Given the description of an element on the screen output the (x, y) to click on. 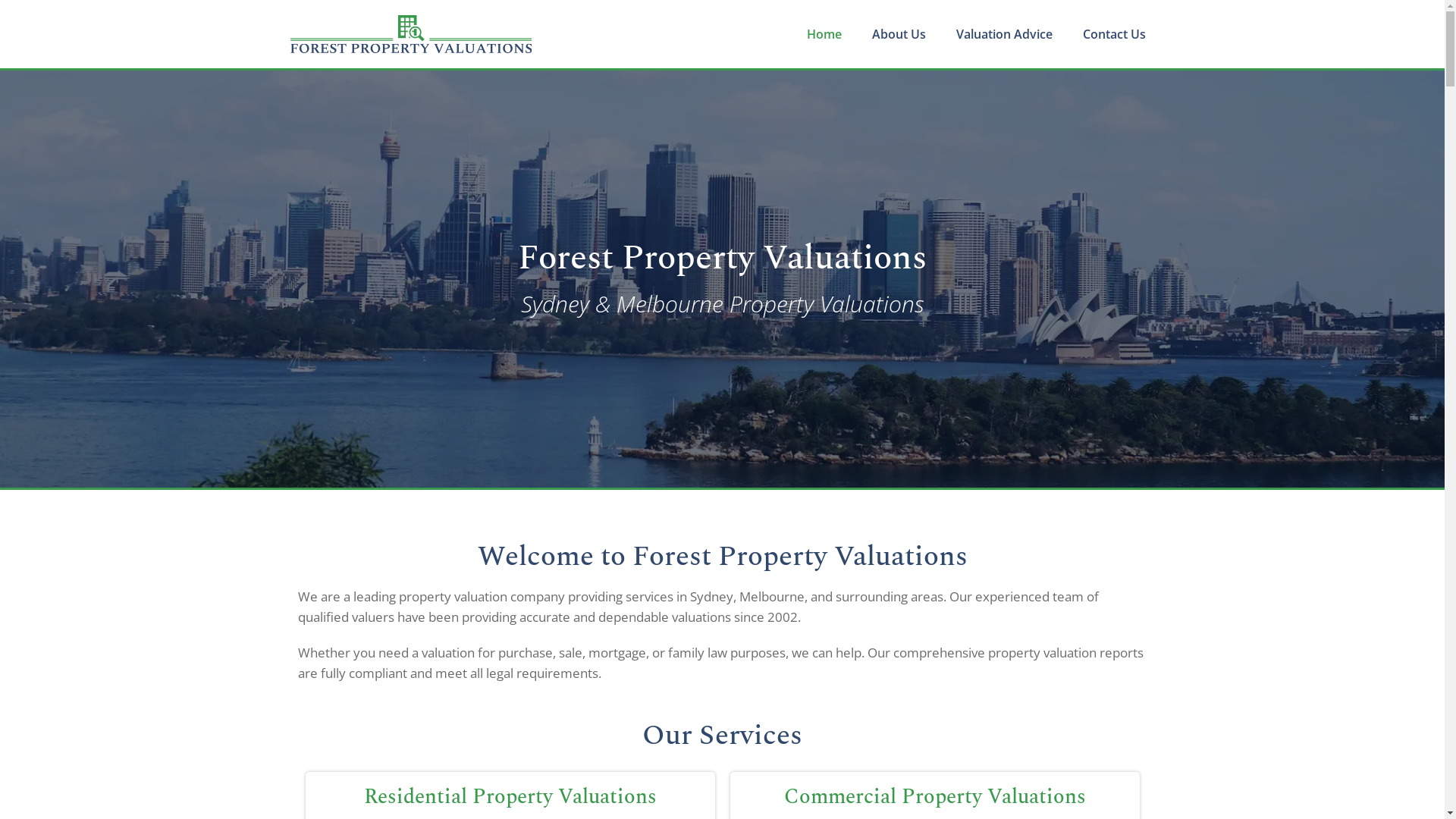
About Us Element type: text (898, 33)
Home Element type: text (824, 33)
Valuation Advice Element type: text (1004, 33)
Contact Us Element type: text (1114, 33)
